Given the description of an element on the screen output the (x, y) to click on. 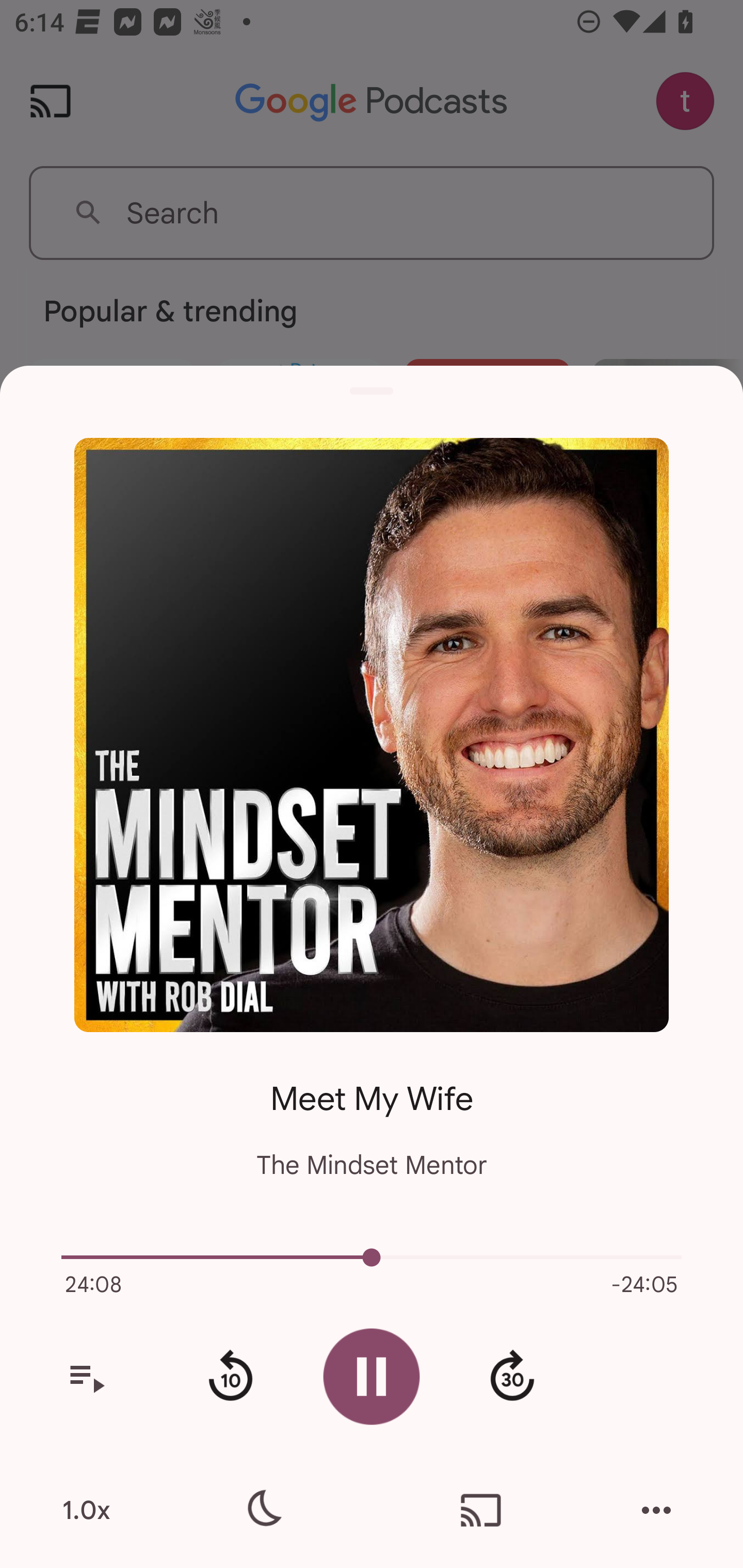
Open the show page for The Mindset Mentor (371, 734)
Meet My Wife The Mindset Mentor (371, 1115)
5003.0 Current episode playback (371, 1257)
Pause (371, 1376)
View your queue (86, 1376)
Rewind 10 seconds (230, 1376)
Fast forward 30 second (511, 1376)
1.0x Playback speed is 1.0. (86, 1510)
Sleep timer settings (261, 1510)
Cast. Disconnected (480, 1510)
More actions (655, 1510)
